Given the description of an element on the screen output the (x, y) to click on. 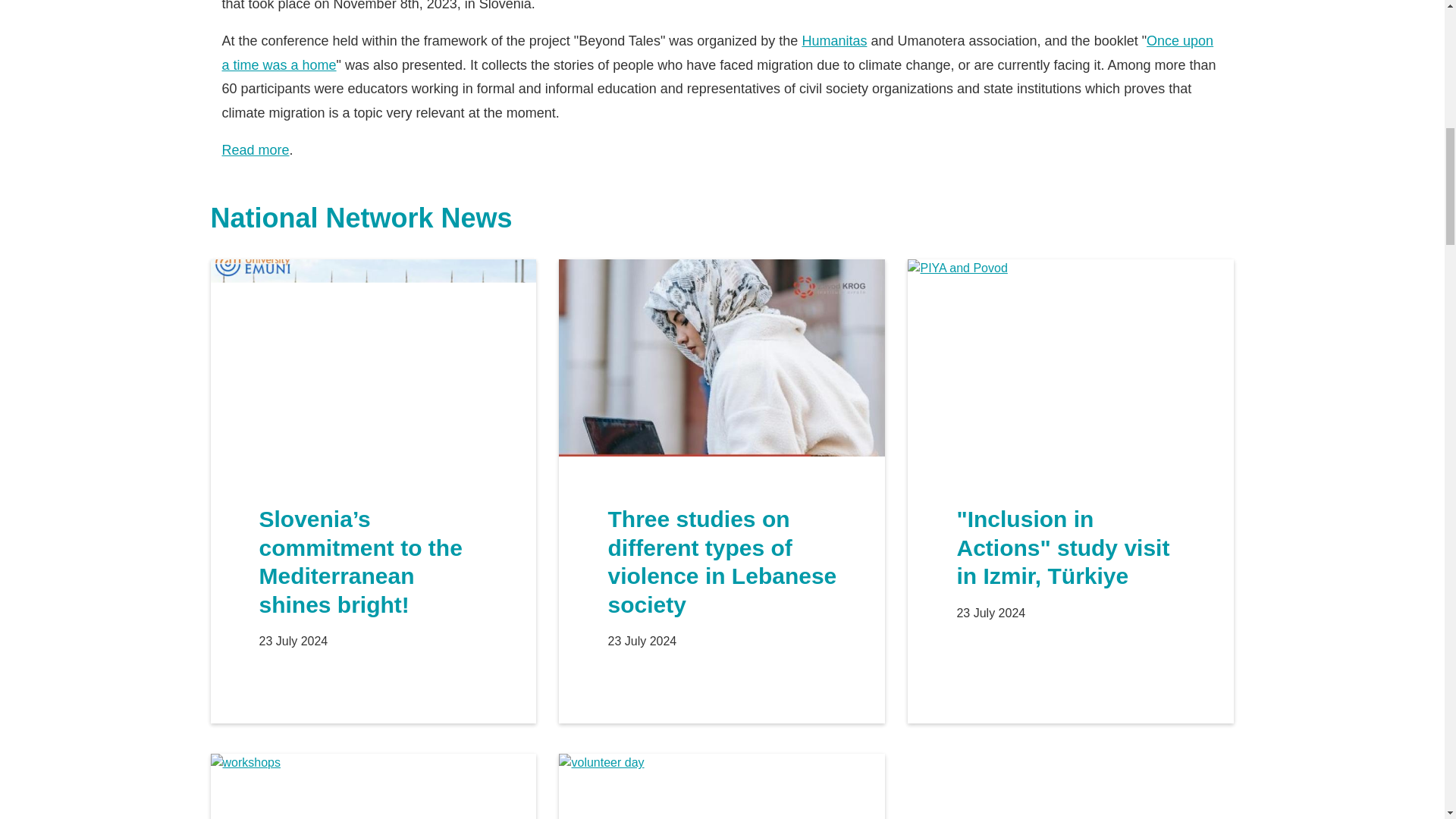
Once upon a time was a home (716, 52)
Beyond tales (834, 40)
Beyond Tales (254, 150)
